Given the description of an element on the screen output the (x, y) to click on. 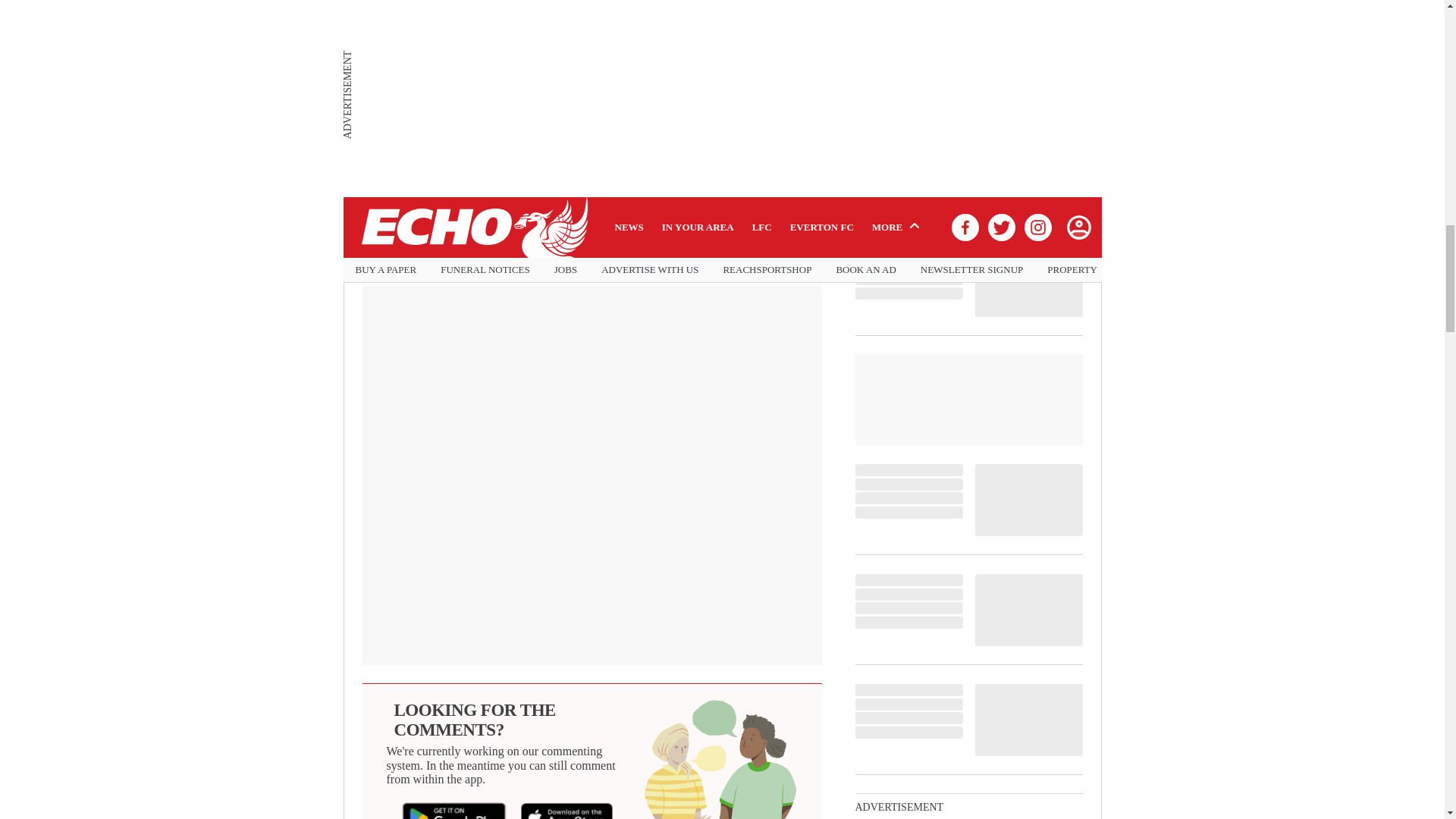
Twitter (533, 252)
Instagram (646, 252)
Facebook (421, 252)
